Given the description of an element on the screen output the (x, y) to click on. 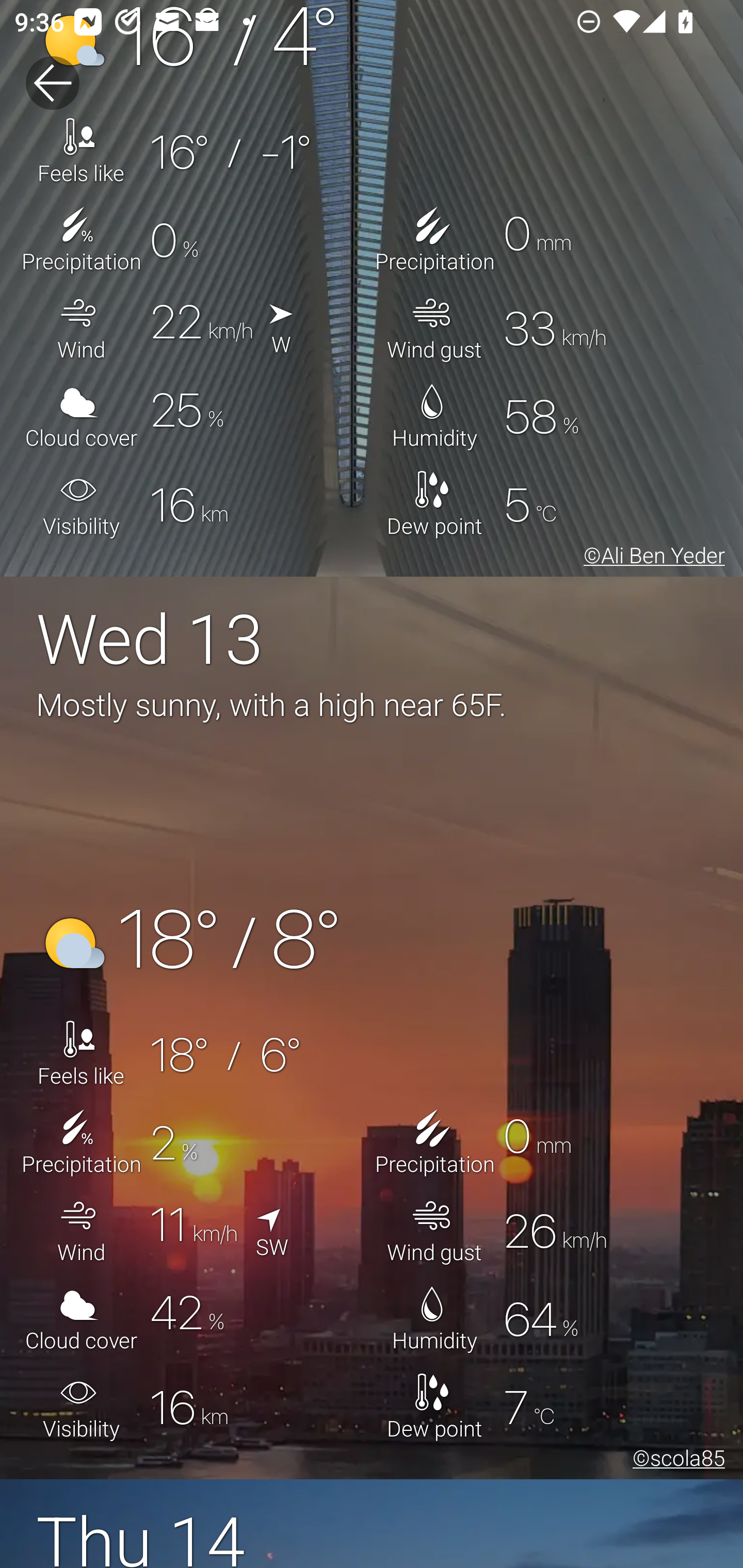
©Ali Ben Yeder (650, 558)
©scola85 (675, 1460)
